Given the description of an element on the screen output the (x, y) to click on. 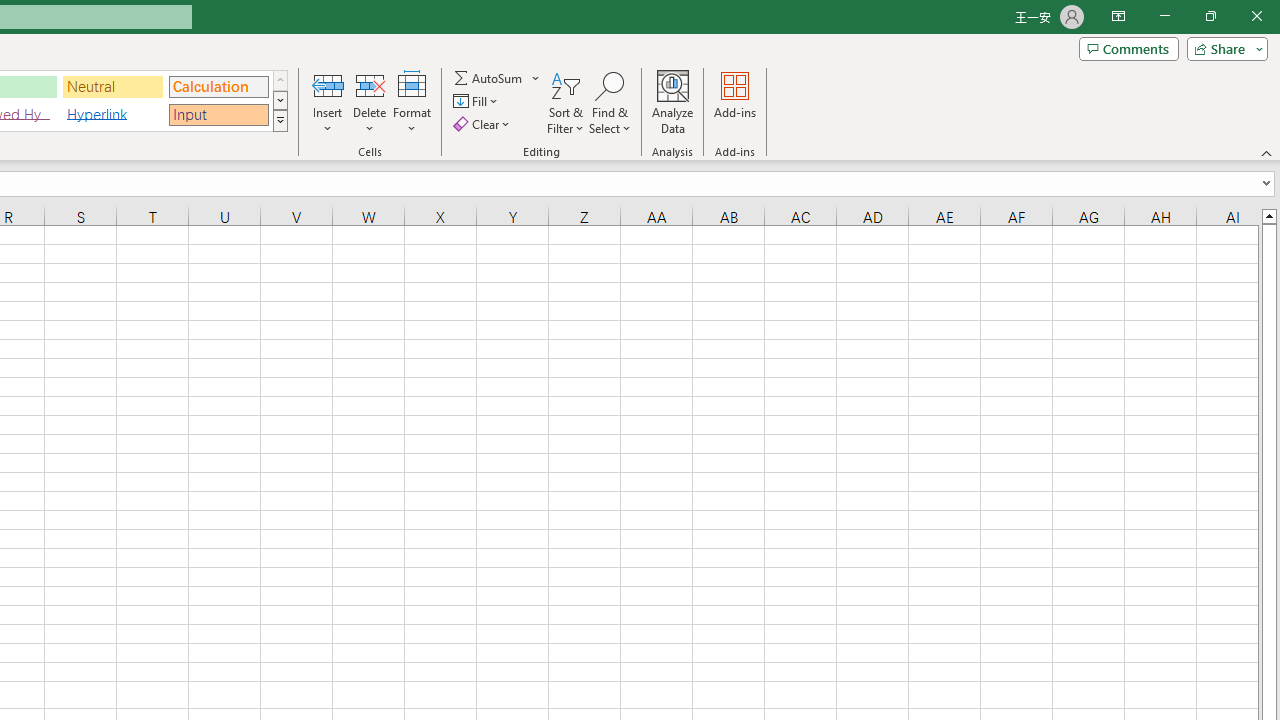
Line up (1268, 215)
More Options (536, 78)
Input (218, 114)
Restore Down (1210, 16)
AutoSum (497, 78)
Row up (280, 79)
Fill (477, 101)
Insert (328, 102)
Class: NetUIImage (280, 120)
Share (1223, 48)
Format (411, 102)
Neutral (113, 86)
Delete Cells... (369, 84)
Cell Styles (280, 120)
